Given the description of an element on the screen output the (x, y) to click on. 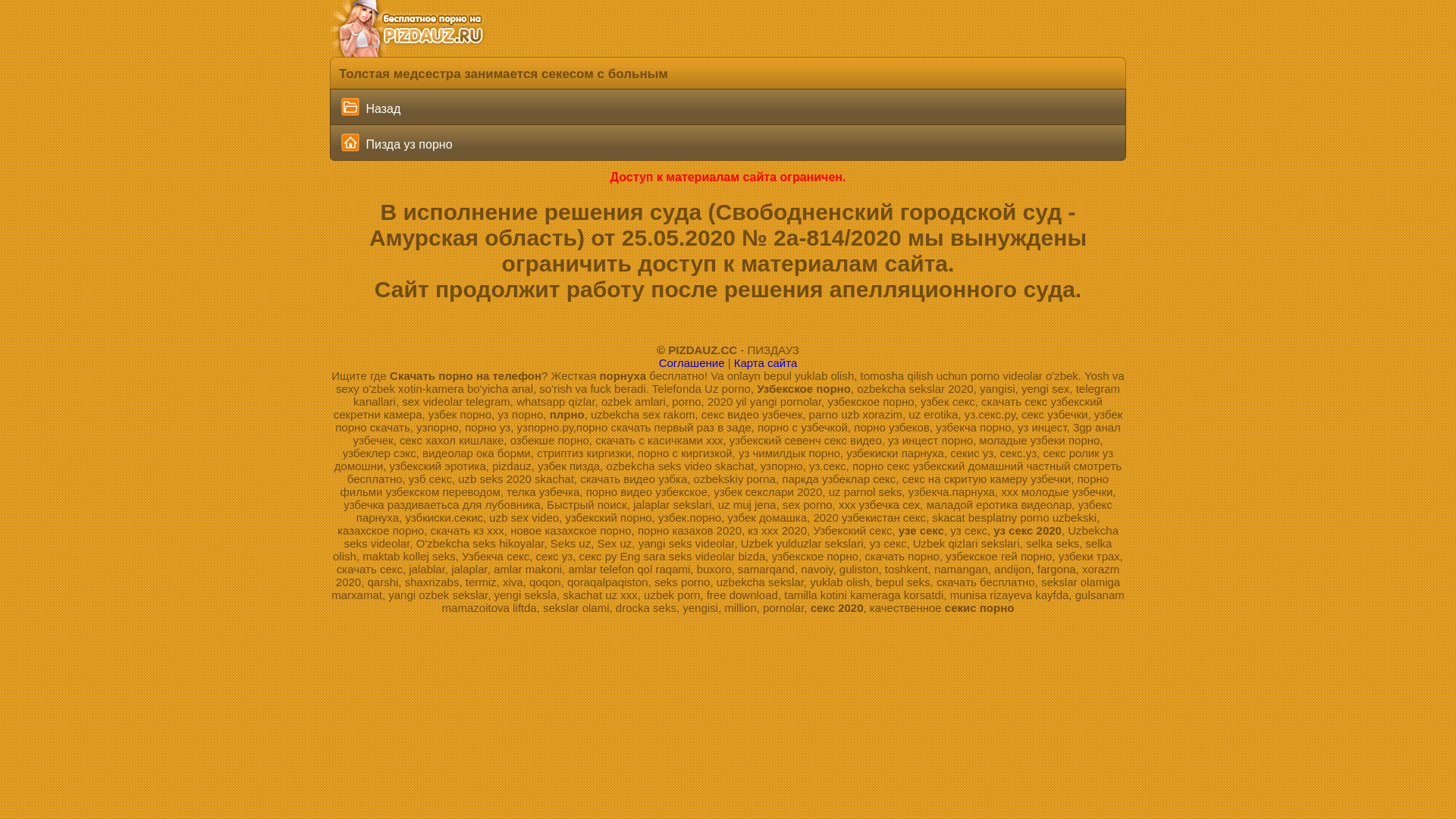
LiveInternet Element type: hover (727, 619)
